Given the description of an element on the screen output the (x, y) to click on. 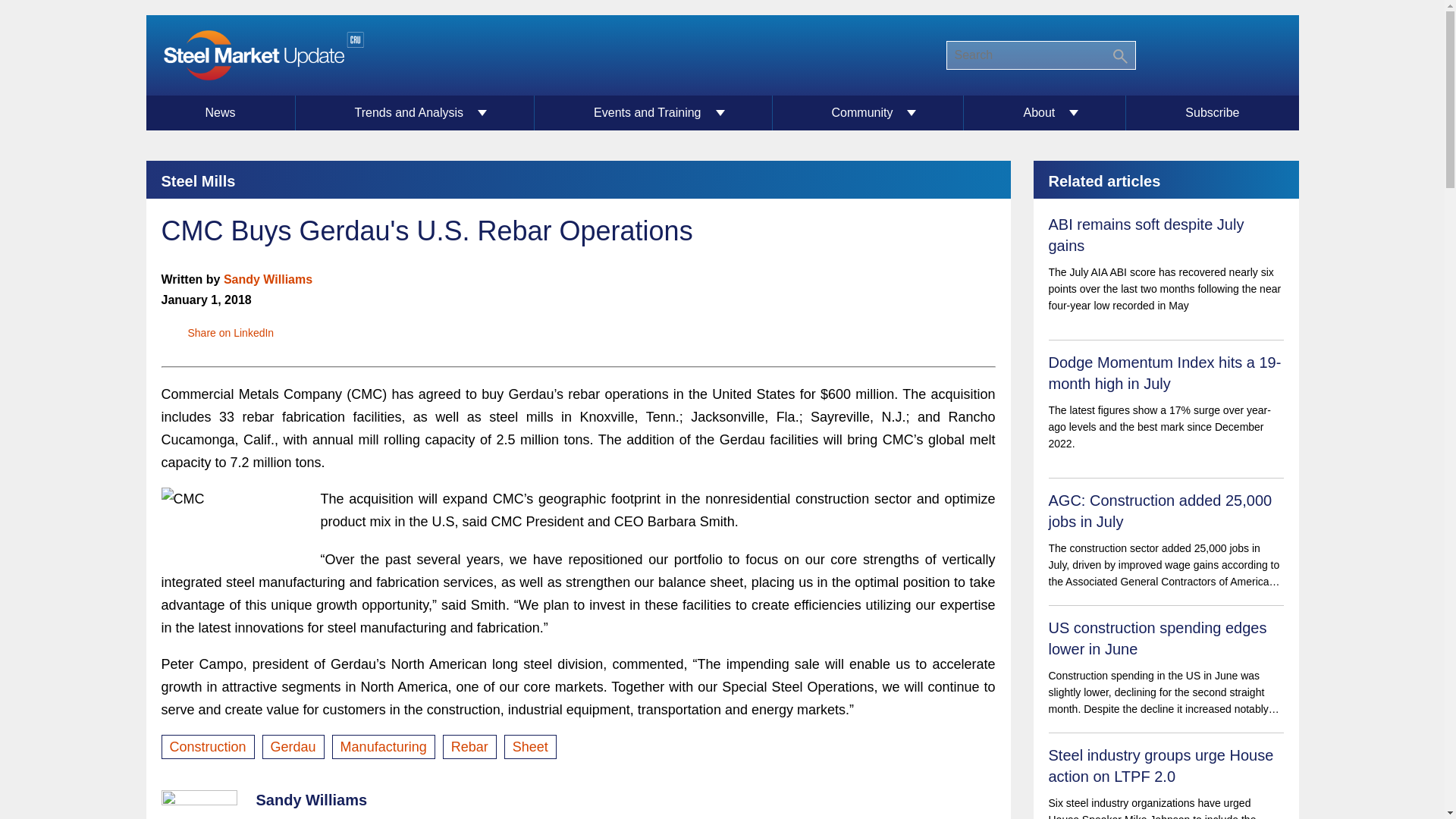
Home (262, 55)
News (220, 112)
Trends and Analysis (415, 112)
